Given the description of an element on the screen output the (x, y) to click on. 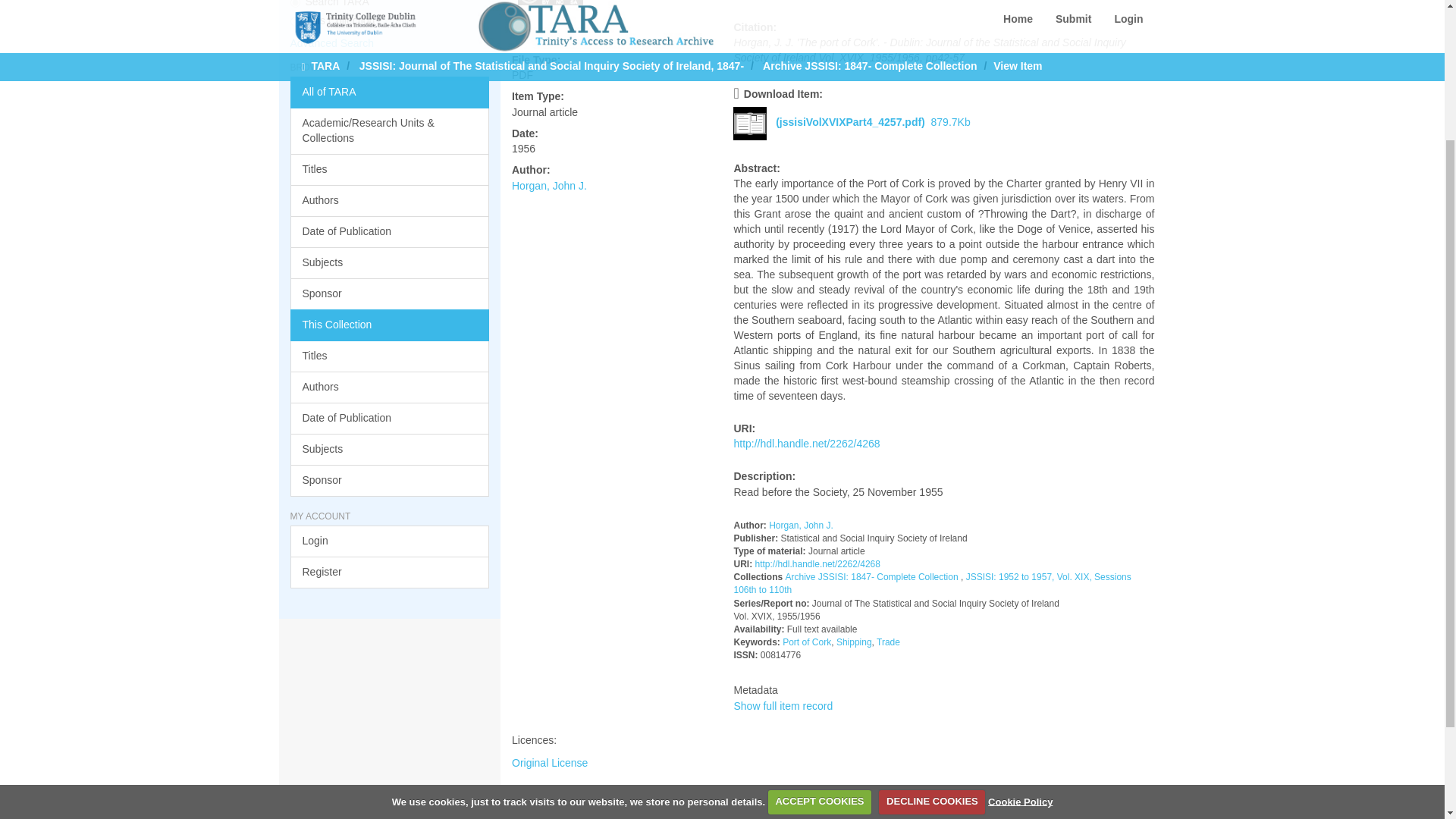
Subjects (389, 450)
Titles (389, 169)
Horgan, John J. (549, 185)
Date of Publication (389, 418)
Subjects (389, 263)
Register (389, 572)
Date of Publication (389, 232)
This Collection (389, 325)
All of TARA (389, 92)
Advanced Search (331, 42)
Authors (389, 387)
Titles (389, 356)
Login (389, 541)
Authors (389, 201)
Sponsor (389, 480)
